Given the description of an element on the screen output the (x, y) to click on. 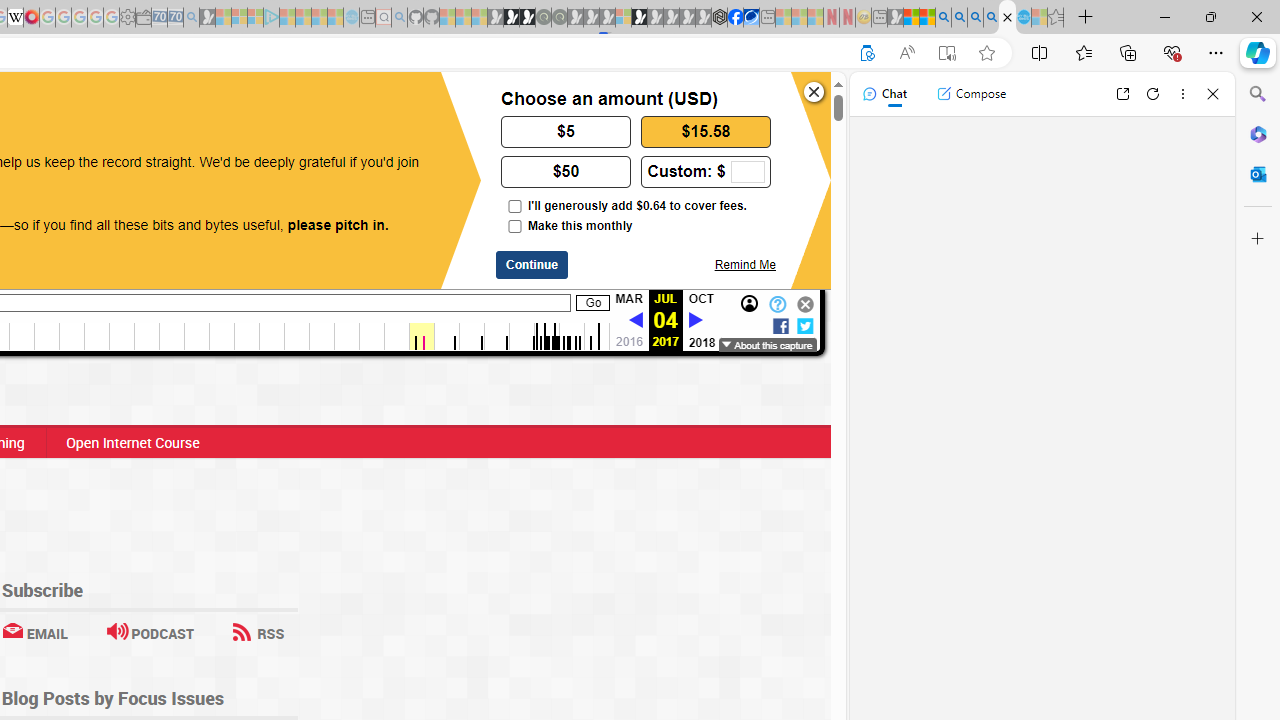
AirNow.gov (751, 17)
Open Internet Course (132, 442)
EMAIL (34, 632)
AutomationID: custom-amount-input (747, 171)
Play Zoo Boom in your browser | Games from Microsoft Start (511, 17)
Expand the search (258, 101)
I'll generously add $0.64 to cover fees. (514, 205)
ACT NOW (97, 108)
Next capture (695, 321)
